Given the description of an element on the screen output the (x, y) to click on. 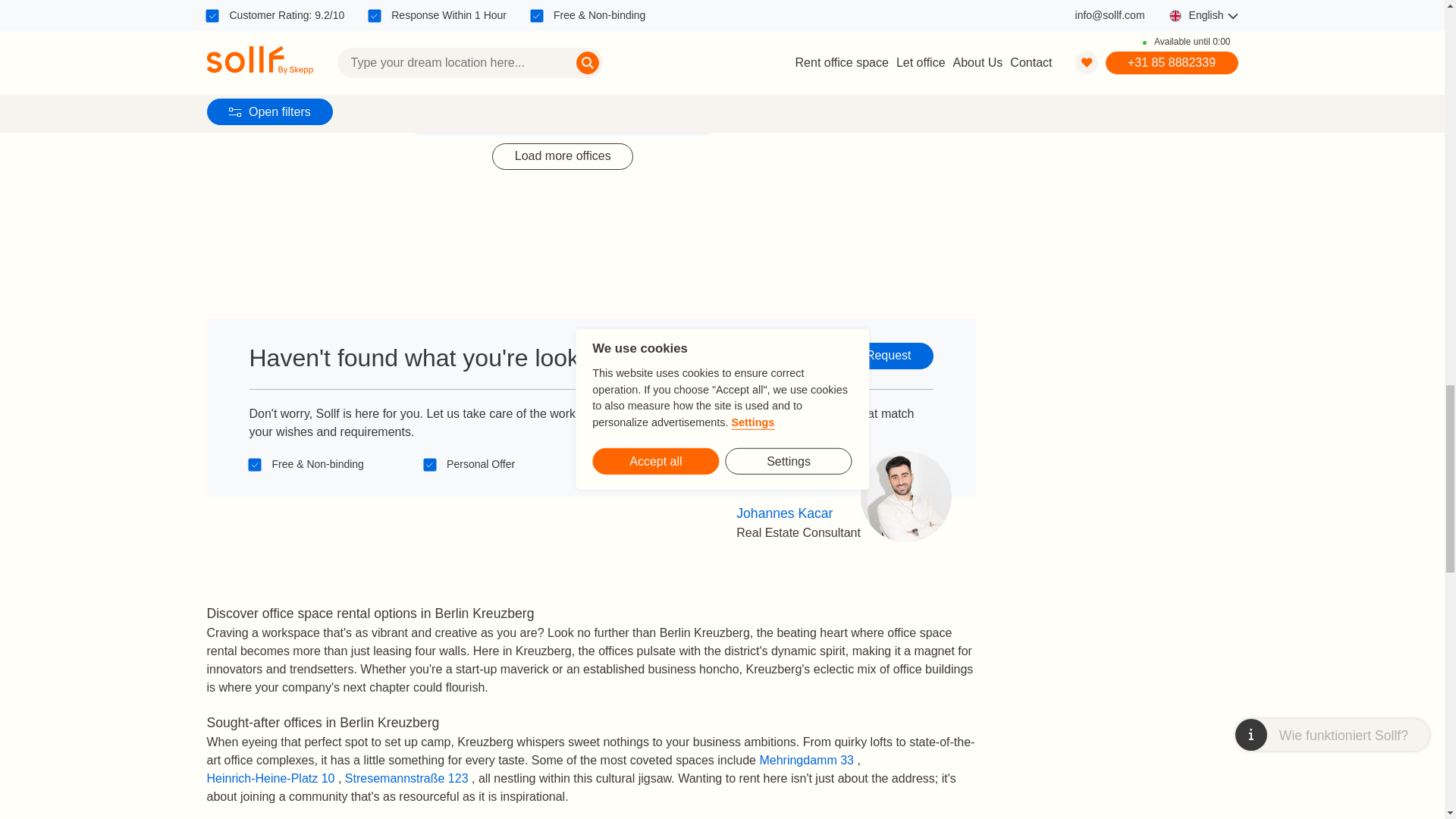
on (604, 464)
on (254, 464)
on (429, 464)
